Given the description of an element on the screen output the (x, y) to click on. 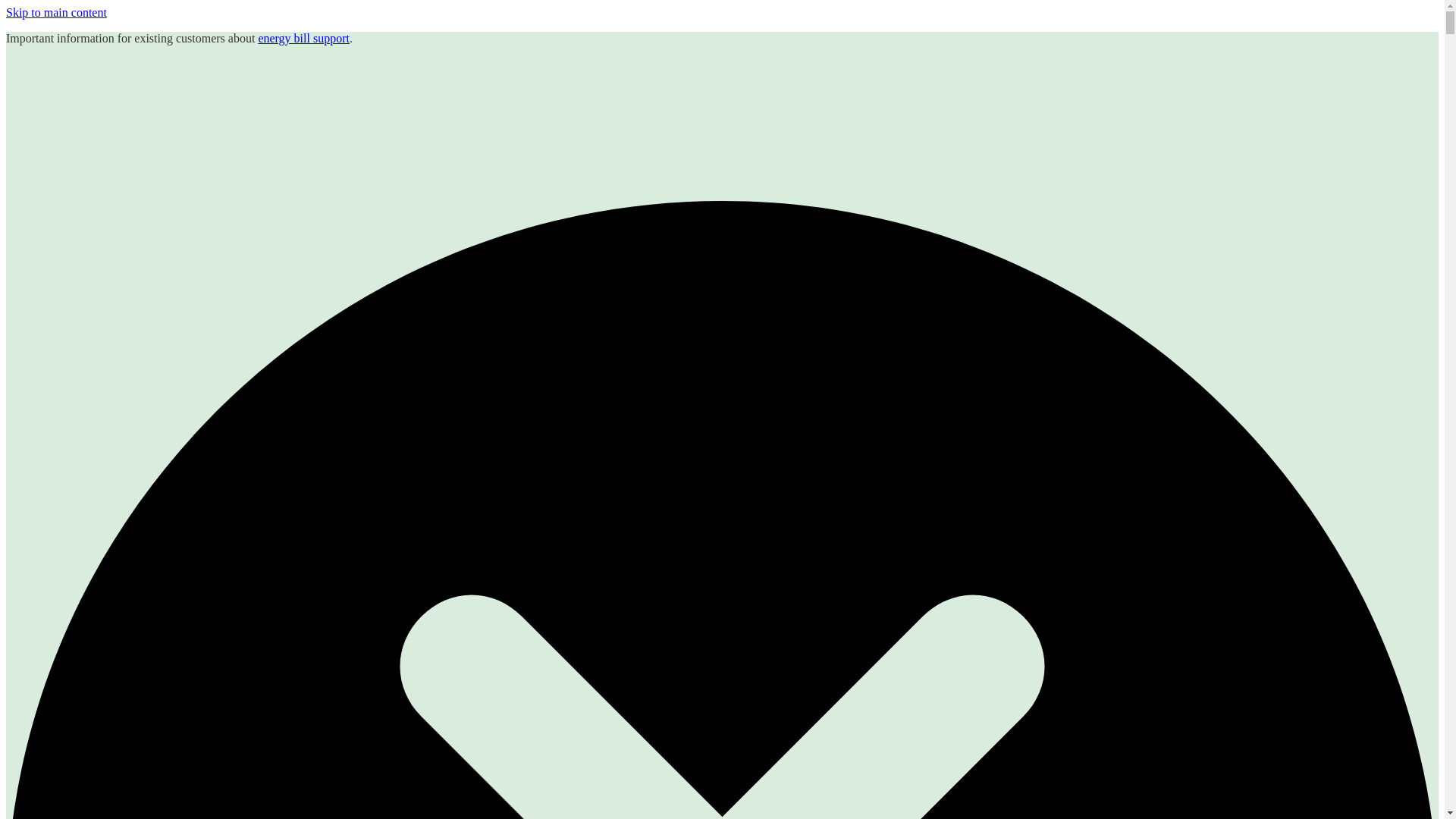
Skip to main content Element type: text (56, 12)
energy bill support Element type: text (303, 37)
